Given the description of an element on the screen output the (x, y) to click on. 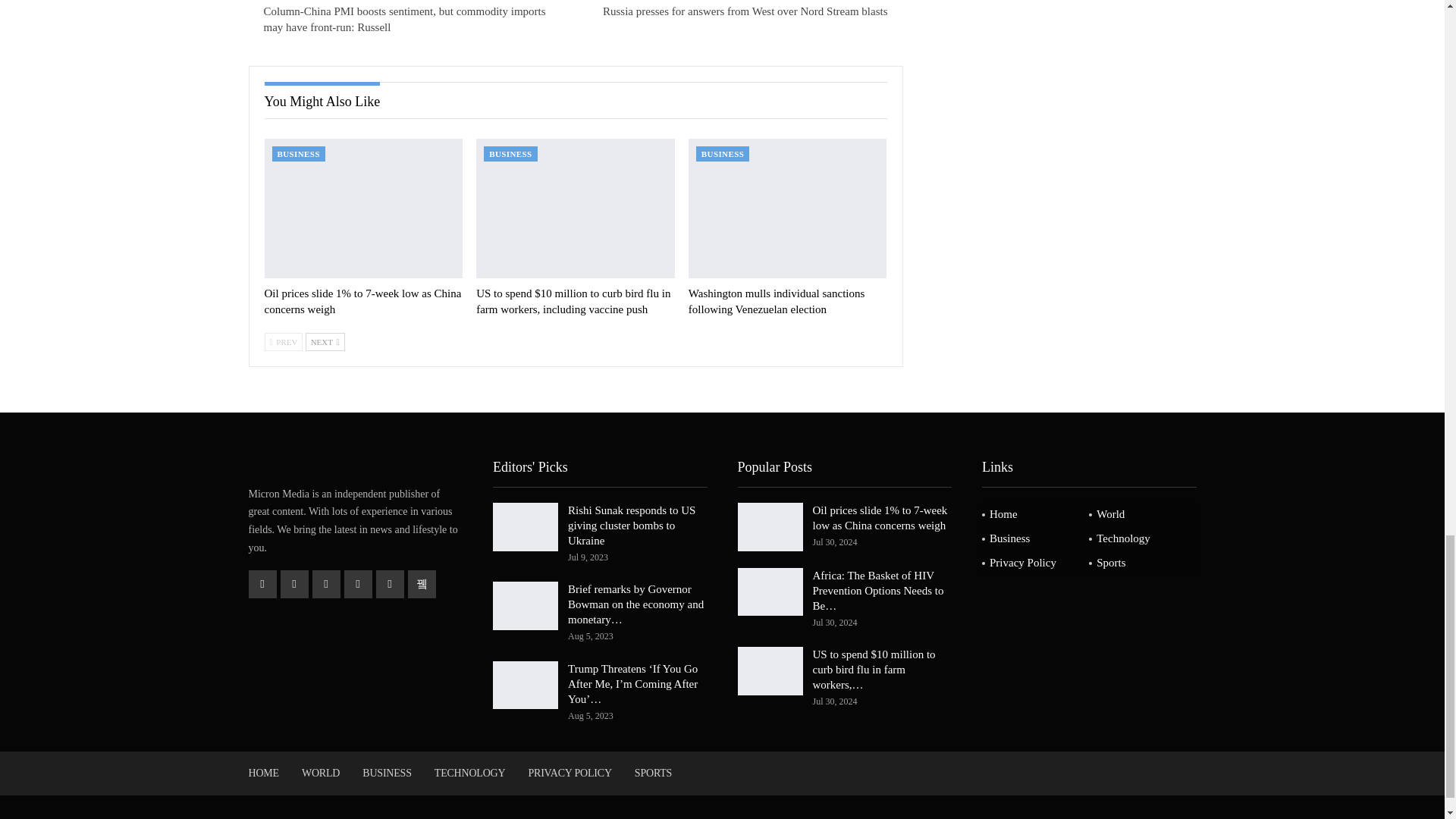
Next (325, 341)
Previous (282, 341)
